Given the description of an element on the screen output the (x, y) to click on. 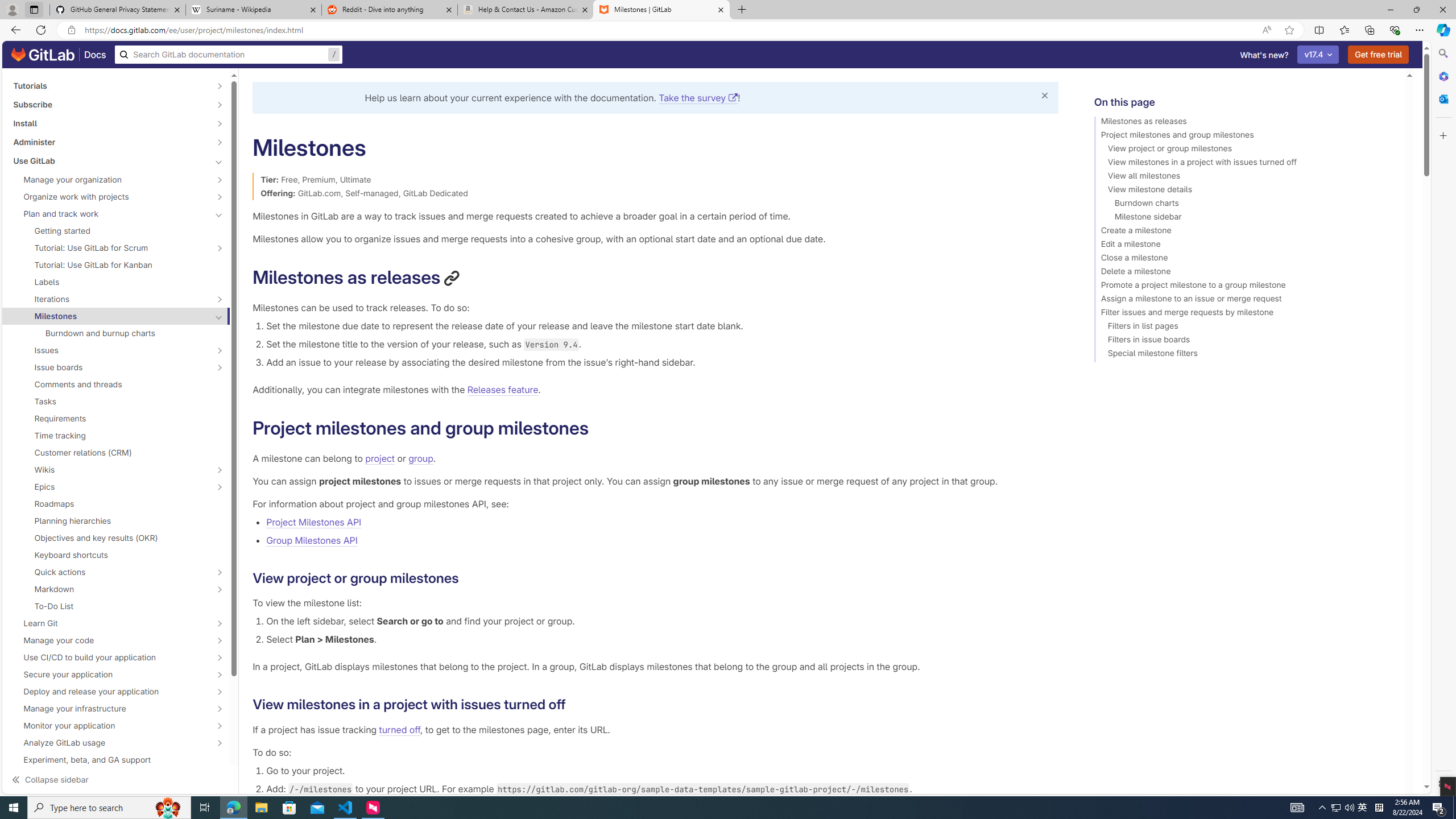
Filters in list pages (1244, 327)
Time tracking (116, 435)
Project milestones and group milestones (1244, 136)
Getting started (116, 230)
Keyboard shortcuts (116, 554)
View milestone details (1244, 191)
Issue boards (109, 366)
Project Milestones API (313, 521)
Collapse sidebar (120, 779)
Suriname - Wikipedia (253, 9)
Filter issues and merge requests by milestone (1244, 314)
Deploy and release your application (109, 691)
